Given the description of an element on the screen output the (x, y) to click on. 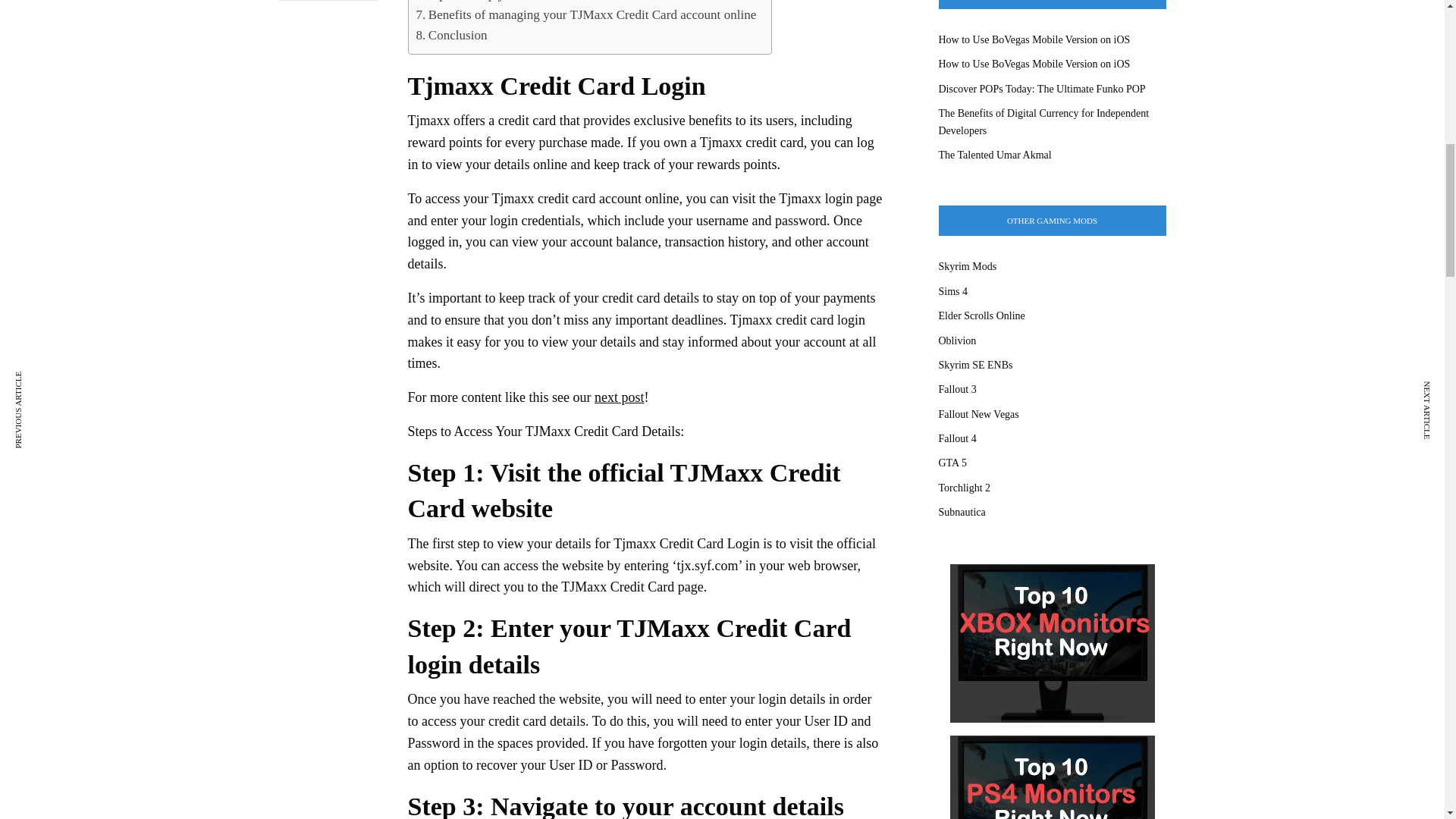
Benefits of managing your TJMaxx Credit Card account online (584, 14)
How to Use BoVegas Mobile Version on iOS (1035, 39)
Tips to Keep your TJMaxx Credit Card Information Secure (574, 2)
next post (619, 396)
Conclusion (450, 35)
Benefits of managing your TJMaxx Credit Card account online (584, 14)
Tips to Keep your TJMaxx Credit Card Information Secure (574, 2)
Conclusion (450, 35)
